Given the description of an element on the screen output the (x, y) to click on. 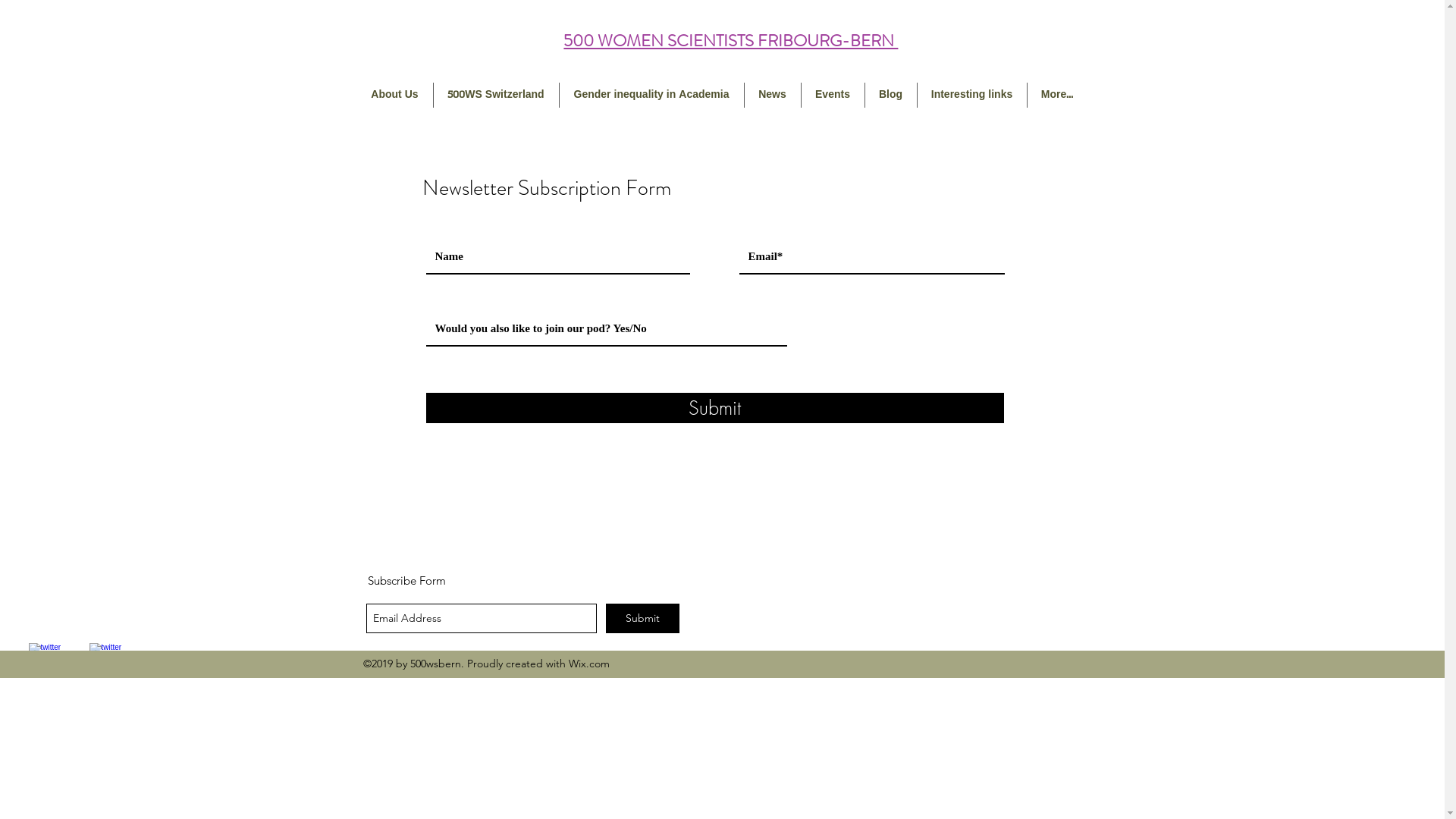
Submit Element type: text (715, 407)
Events Element type: text (831, 94)
Submit Element type: text (641, 618)
About Us Element type: text (394, 94)
Interesting links Element type: text (971, 94)
News Element type: text (772, 94)
Gender inequality in Academia Element type: text (651, 94)
Blog Element type: text (890, 94)
500WS Switzerland Element type: text (495, 94)
500 WOMEN SCIENTISTS FRIBOURG-BERN  Element type: text (730, 40)
